Given the description of an element on the screen output the (x, y) to click on. 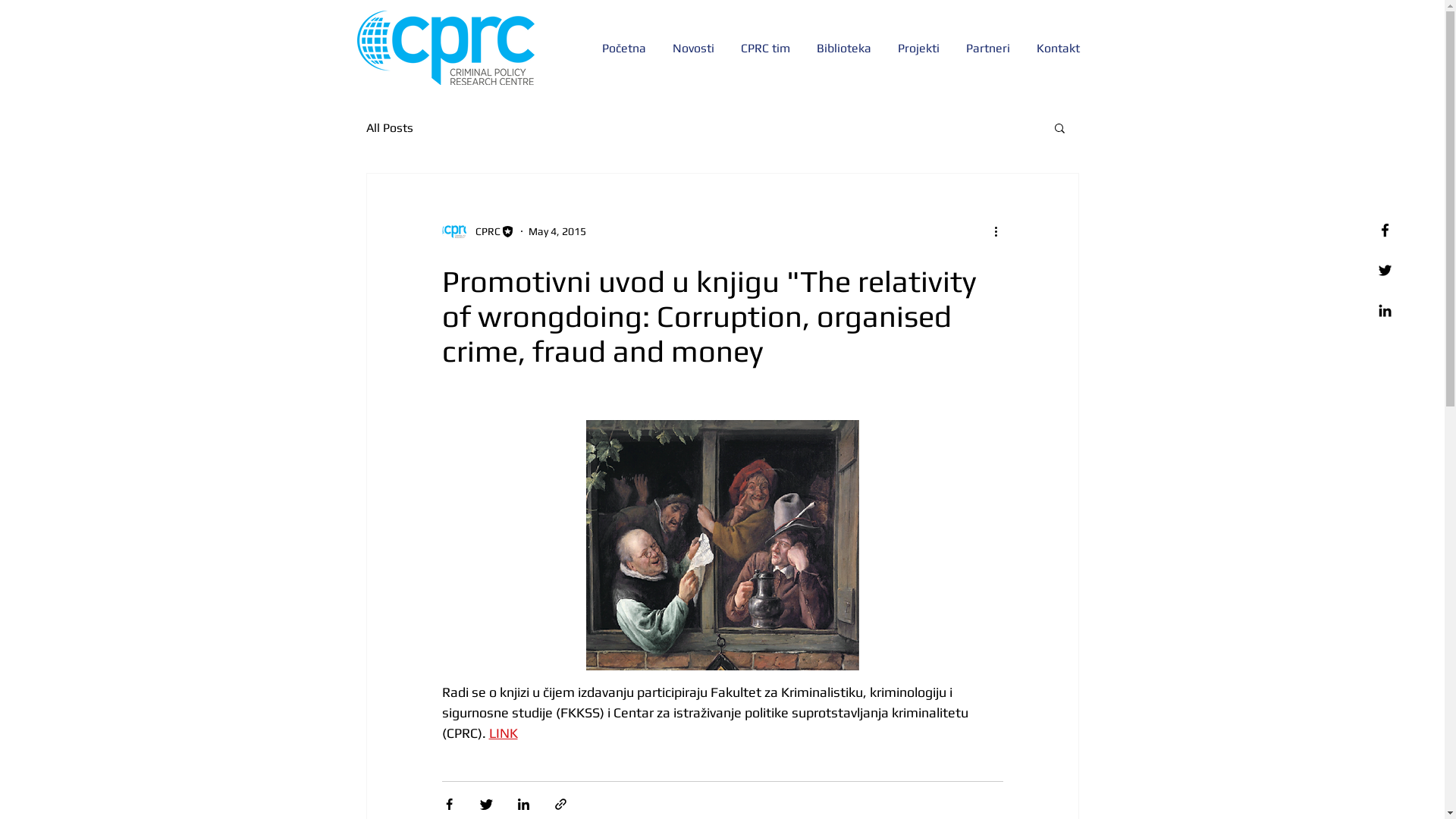
Partneri Element type: text (988, 48)
Biblioteka Element type: text (845, 48)
All Posts Element type: text (388, 126)
Kontakt Element type: text (1059, 48)
Novosti Element type: text (695, 48)
CPRC tim Element type: text (767, 48)
Projekti Element type: text (919, 48)
LINK Element type: text (502, 732)
